Given the description of an element on the screen output the (x, y) to click on. 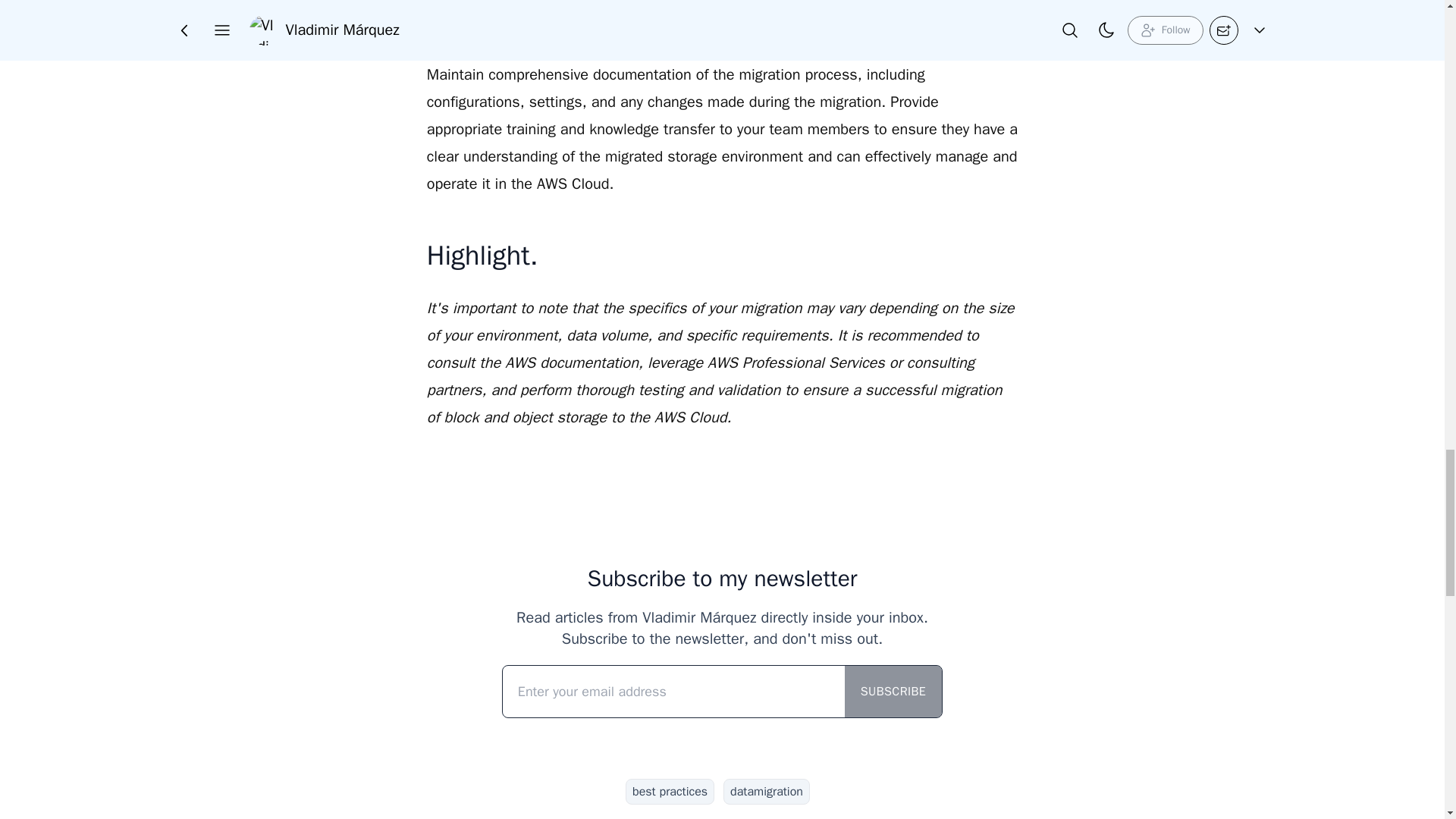
datamigration (766, 791)
SUBSCRIBE (893, 691)
best practices (670, 791)
